Given the description of an element on the screen output the (x, y) to click on. 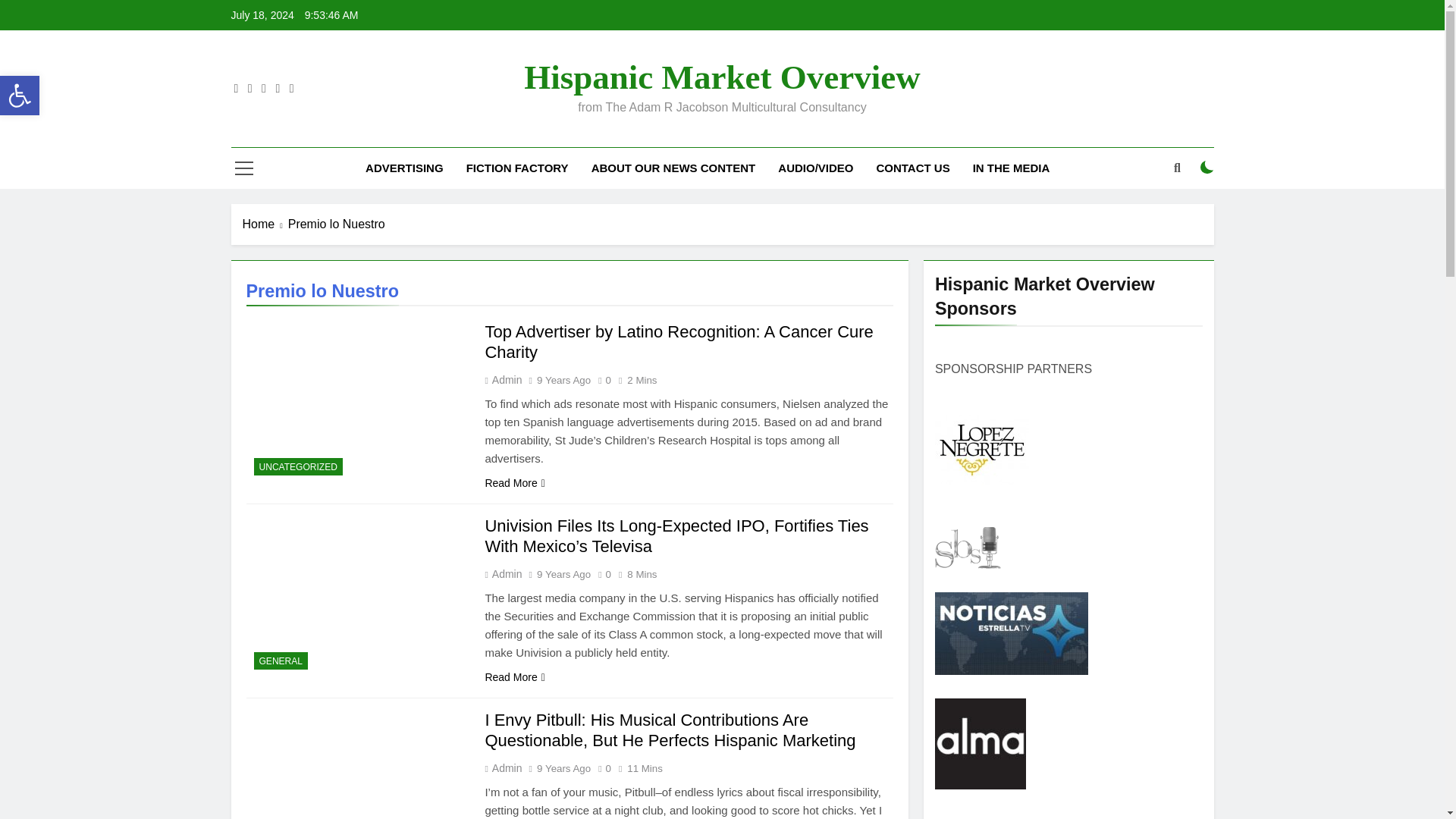
ABOUT OUR NEWS CONTENT (673, 168)
FICTION FACTORY (516, 168)
Top Advertiser by Latino Recognition: A Cancer Cure Charity (678, 341)
ADVERTISING (403, 168)
IN THE MEDIA (1010, 168)
on (19, 95)
CONTACT US (1206, 167)
Accessibility Tools (912, 168)
Hispanic Market Overview (19, 95)
Accessibility Tools (722, 77)
